Given the description of an element on the screen output the (x, y) to click on. 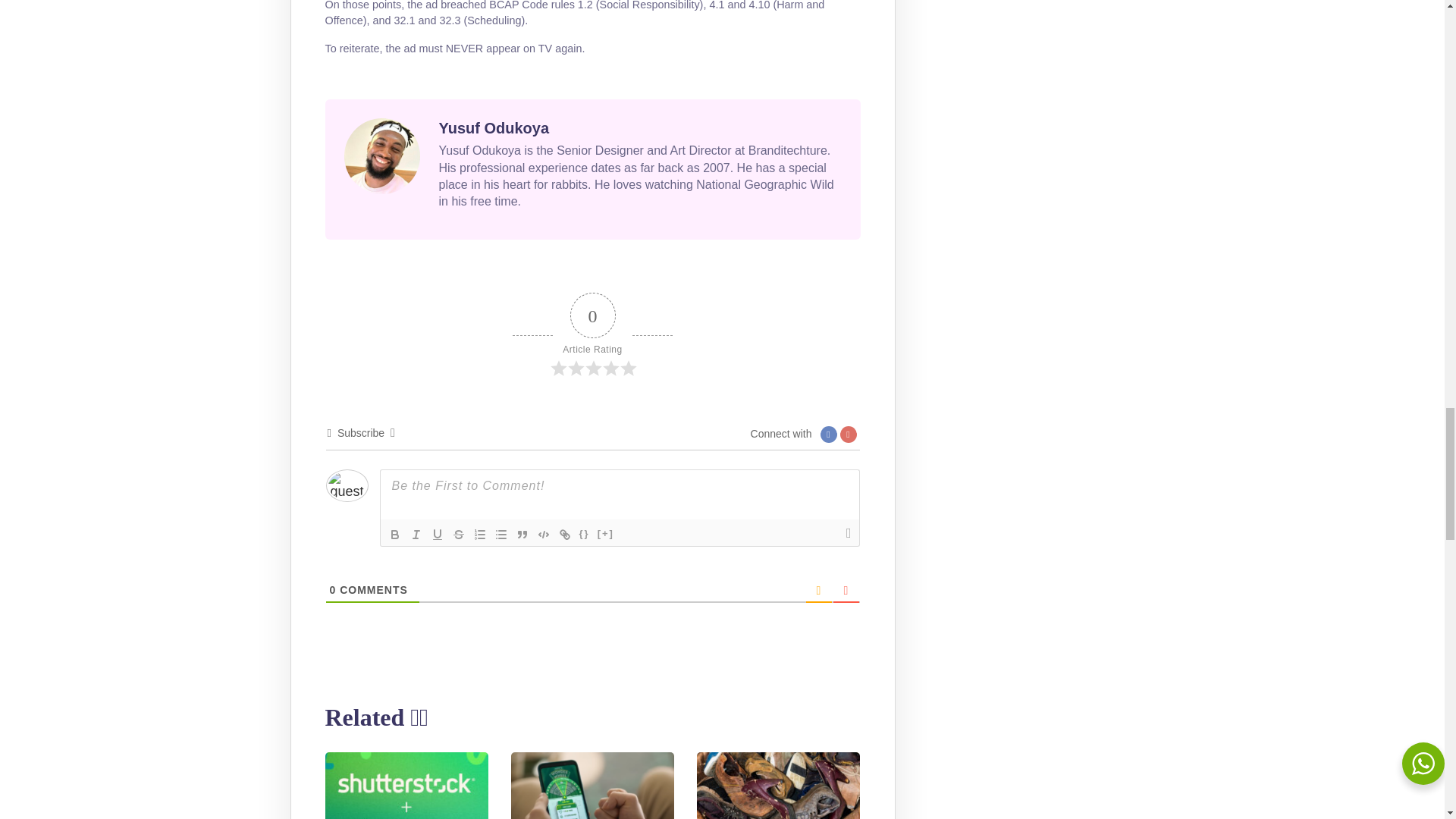
Underline (436, 534)
ordered (478, 534)
Italic (415, 534)
Strike (457, 534)
Bold (394, 534)
bullet (500, 534)
